Given the description of an element on the screen output the (x, y) to click on. 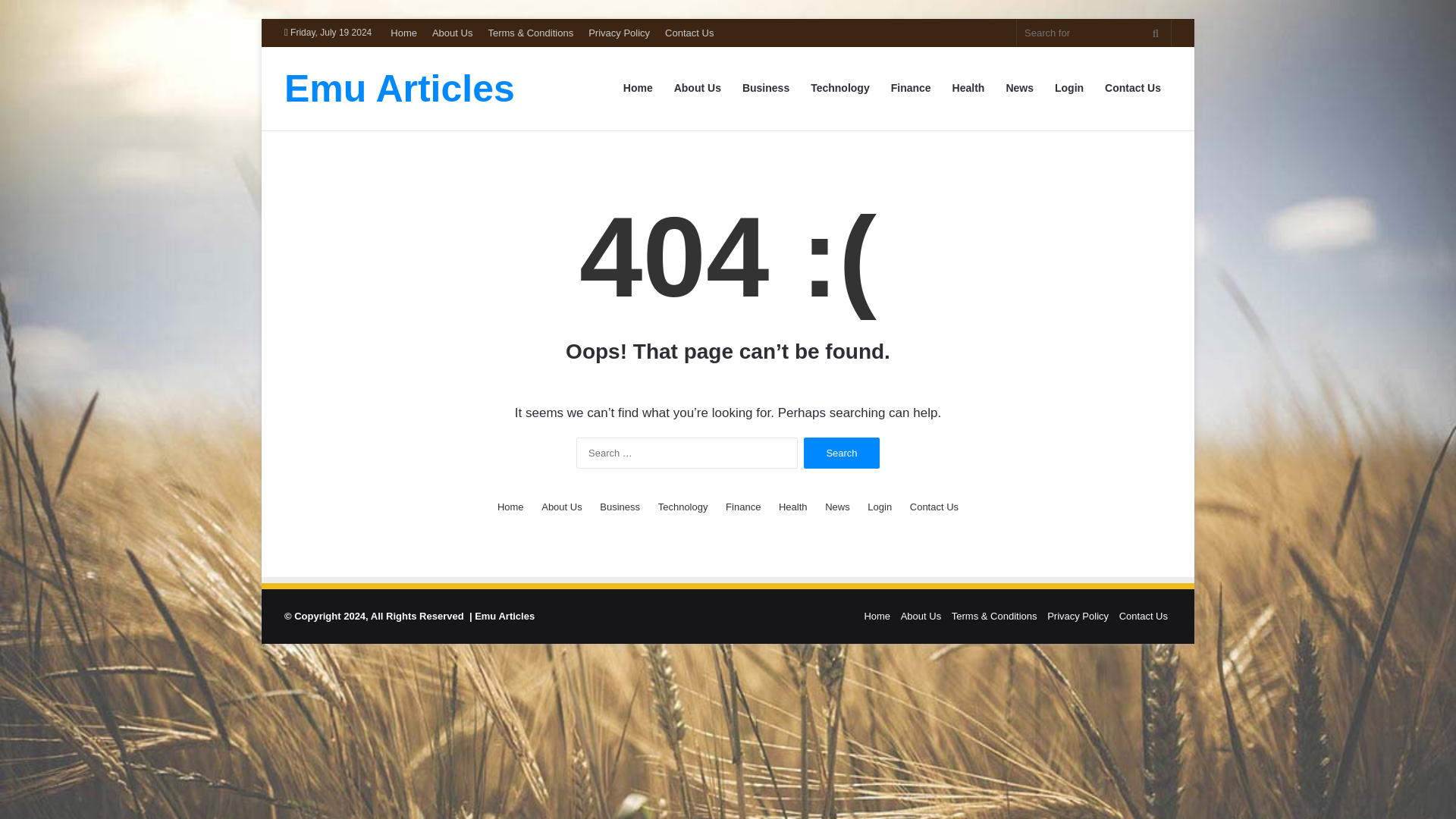
About Us (697, 87)
About Us (560, 506)
Contact Us (689, 32)
Home (876, 615)
Health (968, 87)
Emu Articles (399, 88)
Search for (1093, 32)
Home (403, 32)
Finance (742, 506)
Contact Us (1133, 87)
Business (765, 87)
Home (637, 87)
Technology (682, 506)
About Us (452, 32)
Home (510, 506)
